Given the description of an element on the screen output the (x, y) to click on. 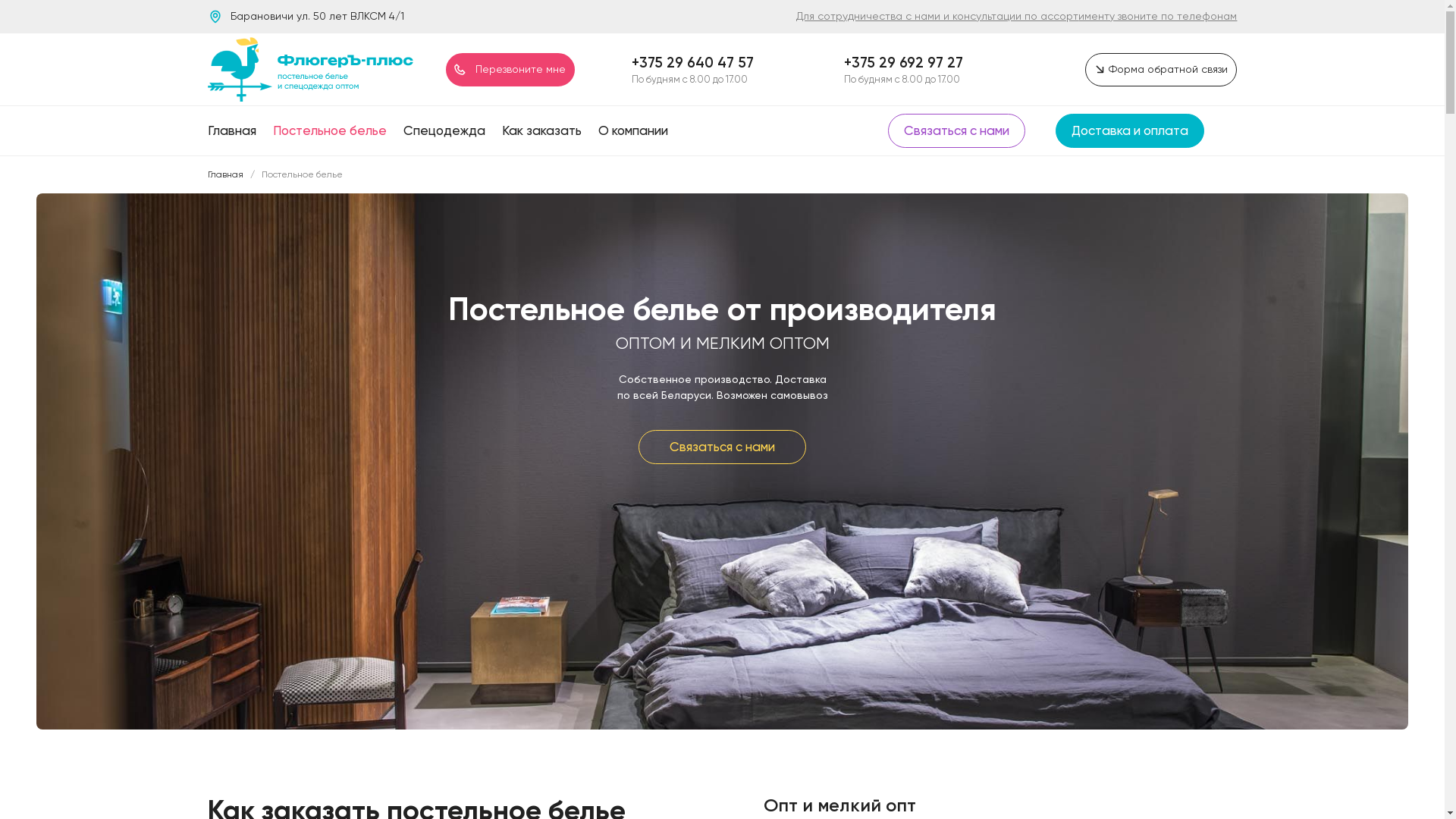
+375 29 692 97 27 Element type: text (903, 62)
+375 29 640 47 57 Element type: text (692, 62)
logo Element type: hover (310, 69)
